Given the description of an element on the screen output the (x, y) to click on. 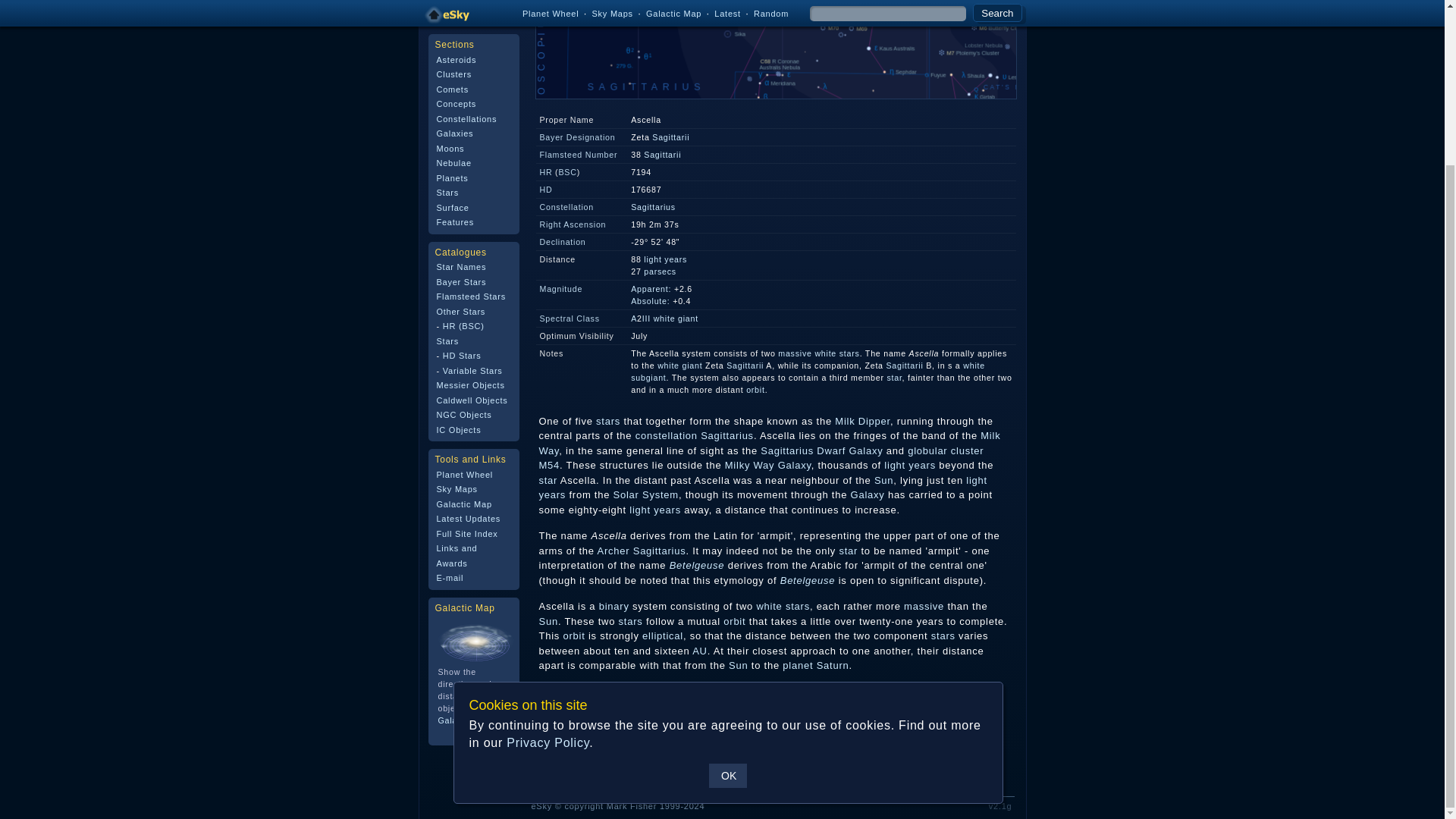
Caldwell Objects (472, 203)
NGC Objects (464, 217)
Surface Features (455, 18)
E-mail (450, 380)
Other Stars (461, 113)
Galactic Map (465, 523)
IC Objects (458, 232)
HD Stars (461, 158)
Messier Objects (470, 188)
Planet Wheel (464, 277)
Latest Updates (468, 321)
Galactic Map (464, 307)
Flamsteed Stars (470, 99)
Variable Stars (472, 173)
